Given the description of an element on the screen output the (x, y) to click on. 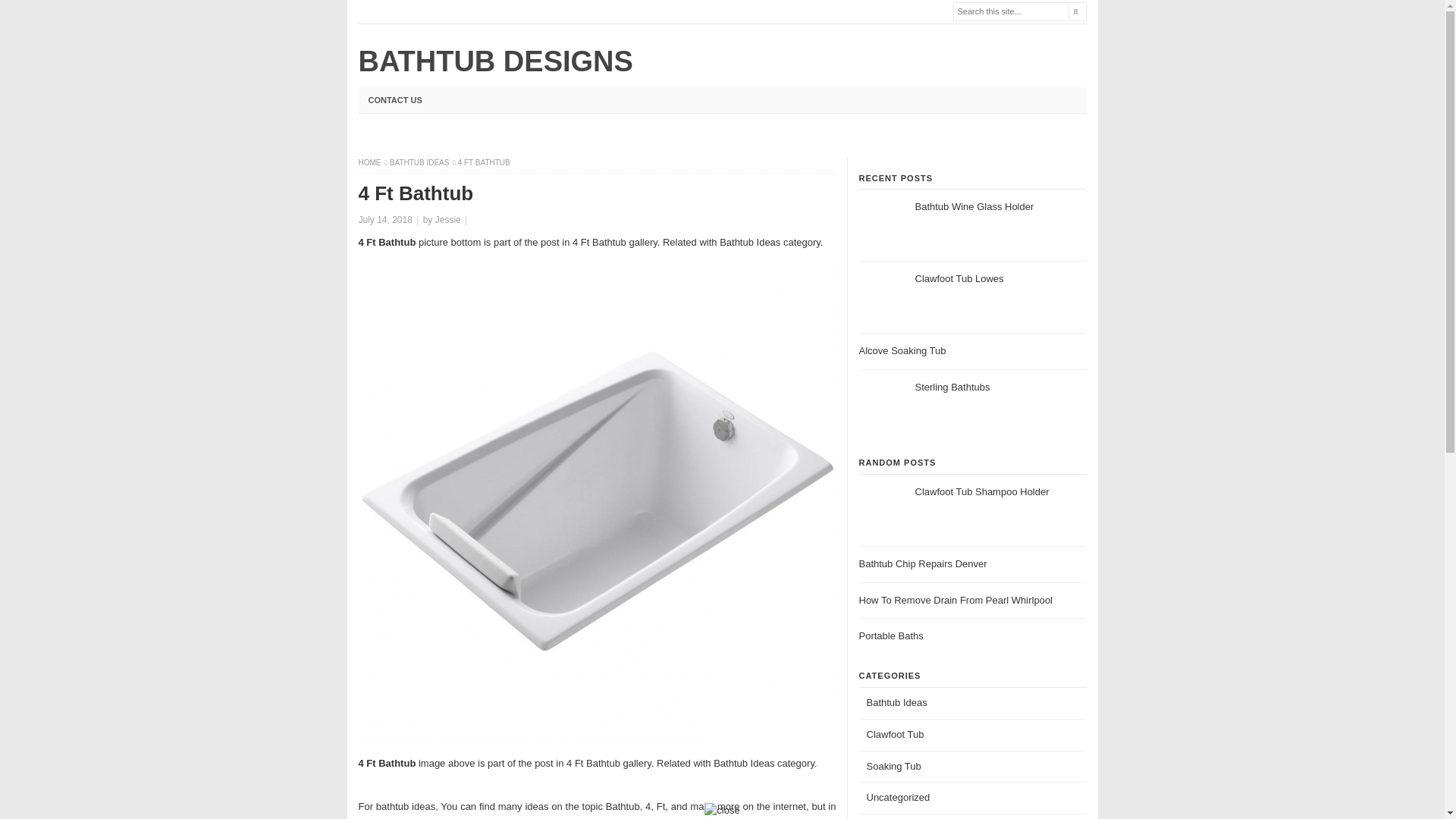
Sterling Bathtubs (952, 387)
BATHTUB DESIGNS (494, 61)
Bathtub Wine Glass Holder (973, 206)
BATHTUB IDEAS (420, 162)
Bathtub Designs (369, 162)
HOME (369, 162)
Clawfoot Tub Shampoo Holder (981, 491)
CONTACT US (394, 99)
Alcove Soaking Tub (901, 350)
close button (721, 811)
Jessie (448, 219)
Clawfoot Tub Lowes (958, 278)
